Given the description of an element on the screen output the (x, y) to click on. 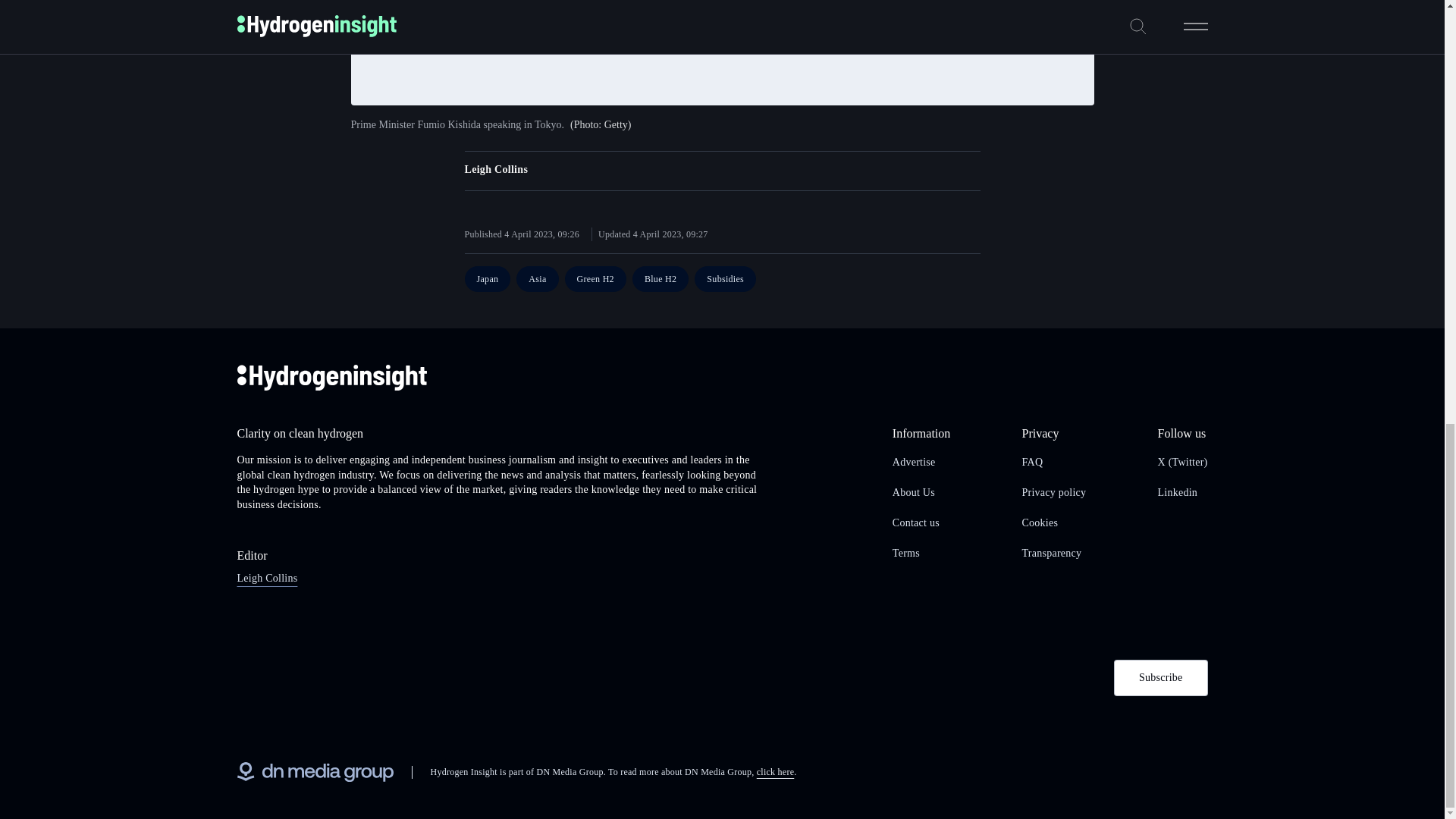
Blue H2 (659, 278)
About Us (913, 491)
About Us (913, 491)
Transparency (1051, 552)
Privacy policy (1054, 491)
Cookies (1040, 522)
Privacy policy (1054, 491)
Contact us (915, 522)
Linkedin (1177, 491)
Leigh Collins (495, 169)
